Given the description of an element on the screen output the (x, y) to click on. 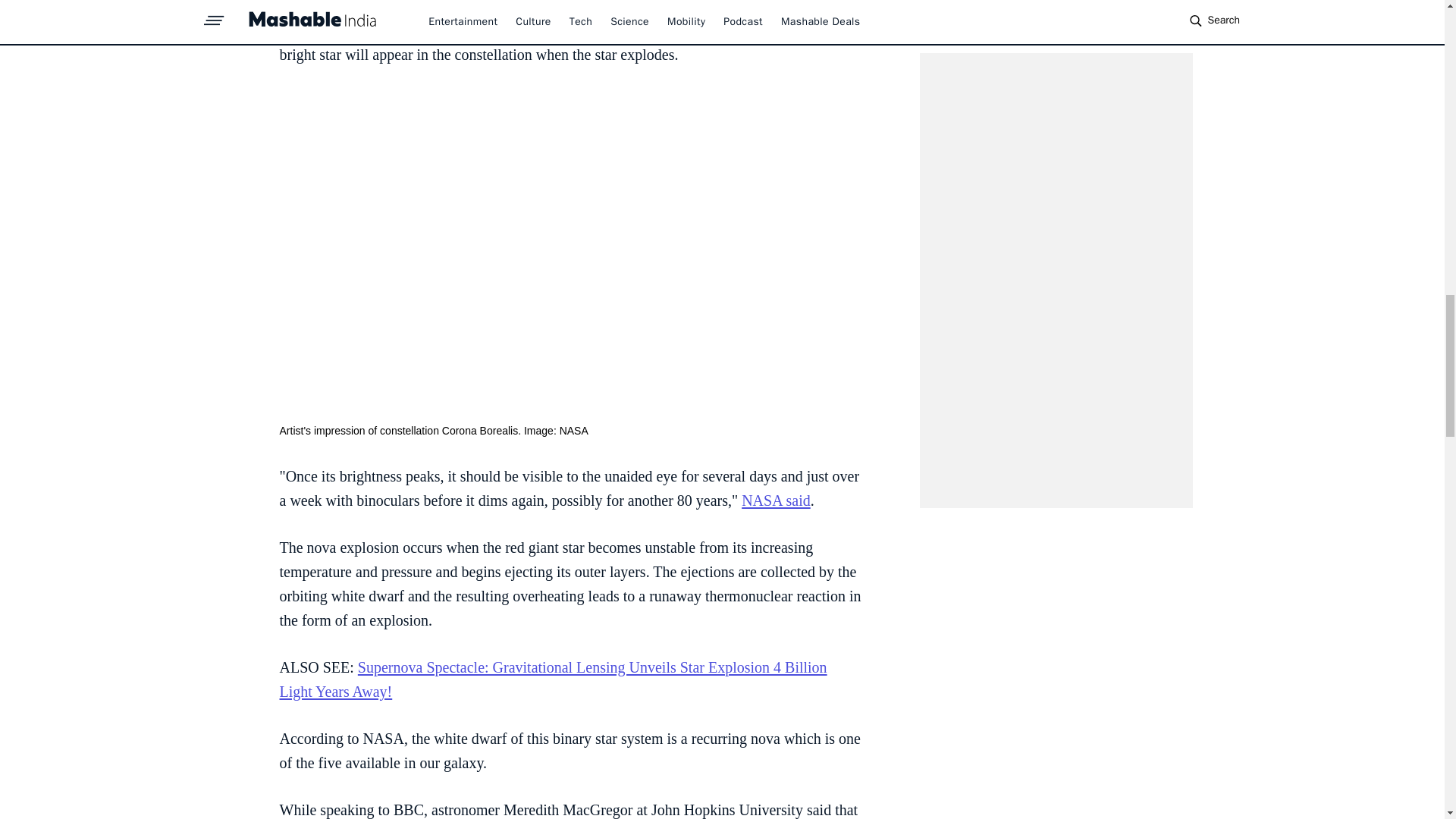
NASA said (775, 500)
